Given the description of an element on the screen output the (x, y) to click on. 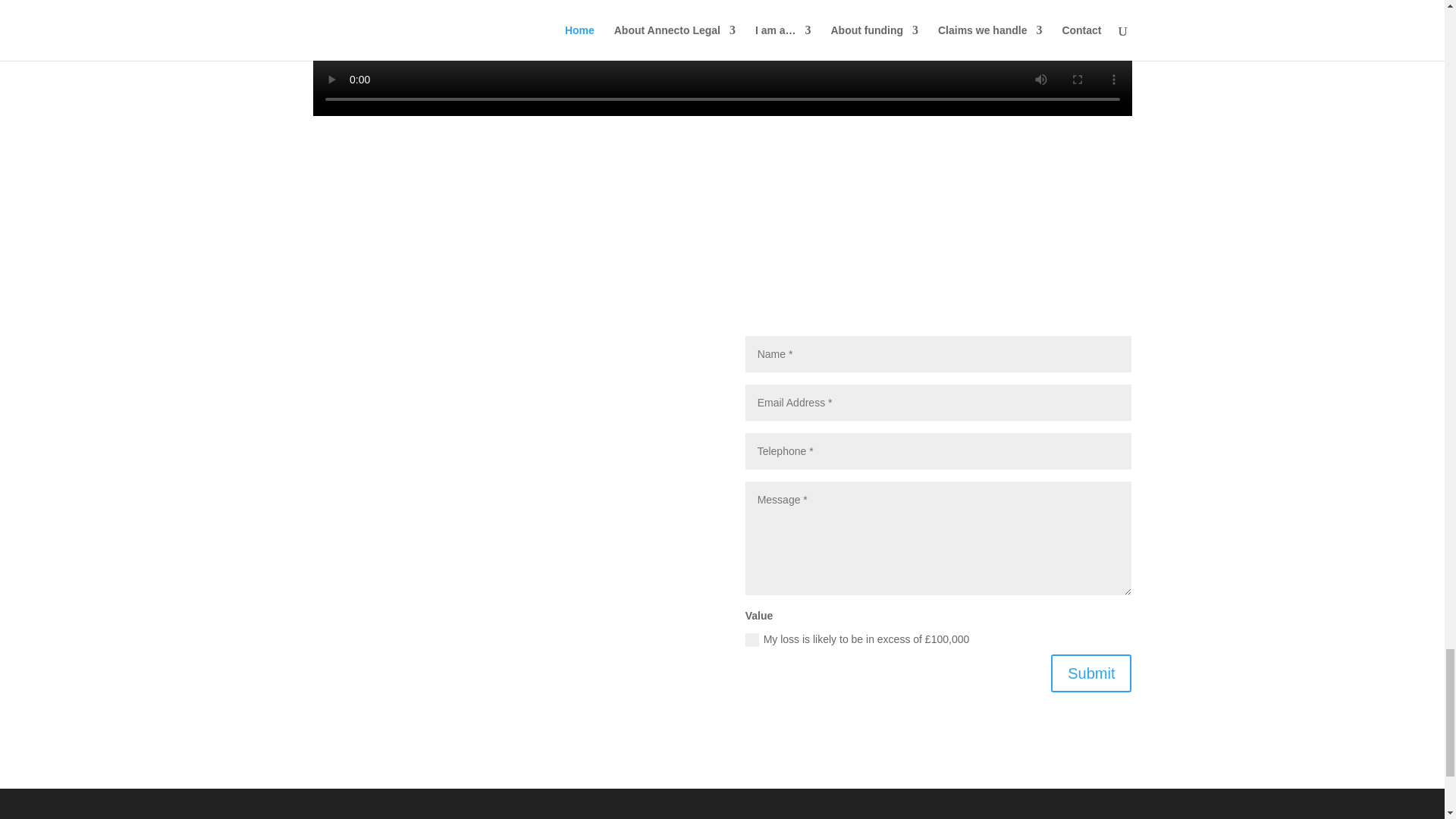
Follow on X (491, 626)
Follow on LinkedIn (521, 626)
